Given the description of an element on the screen output the (x, y) to click on. 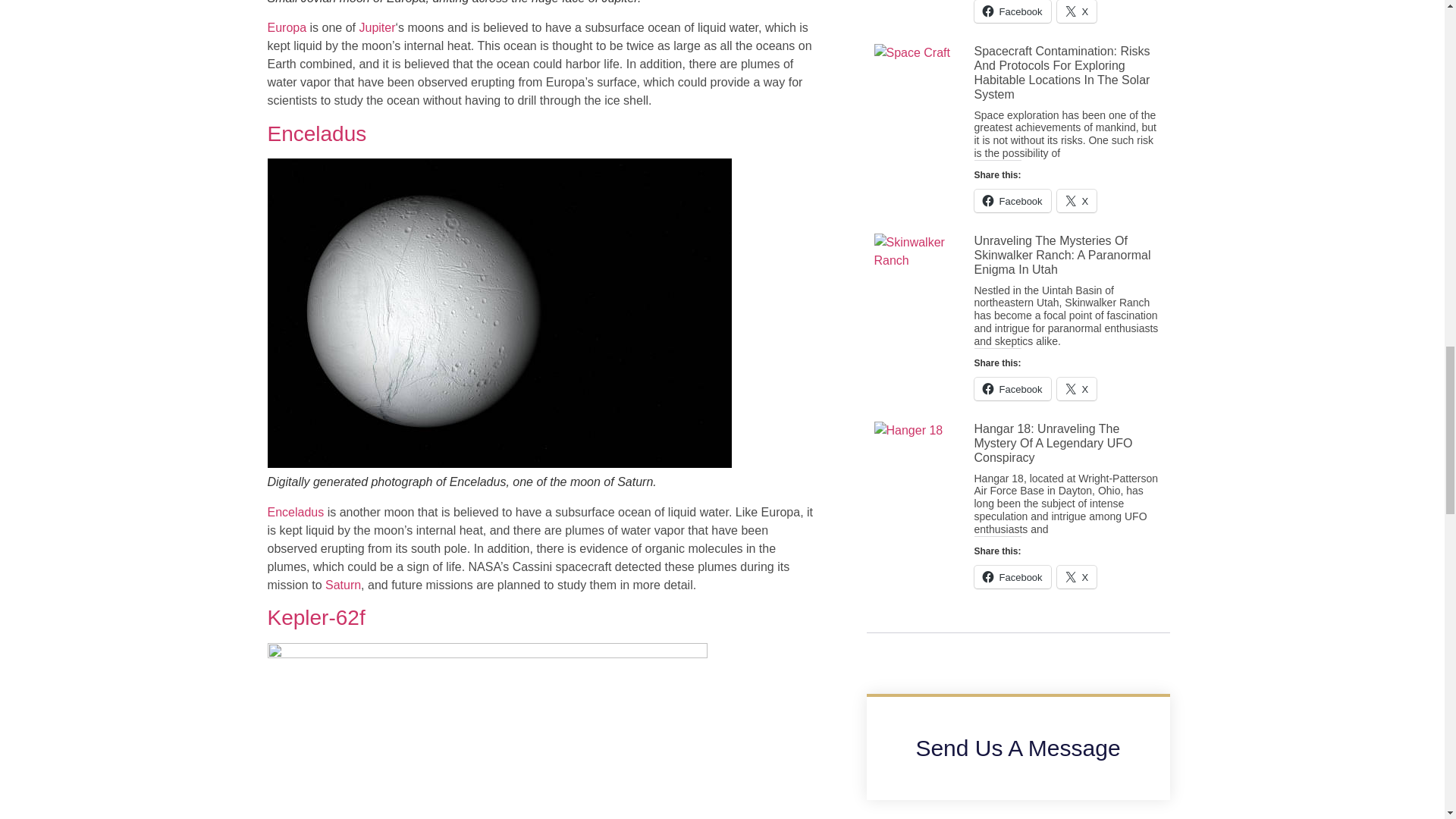
Jupiter (376, 27)
Enceladus (316, 133)
Europa (285, 27)
